Given the description of an element on the screen output the (x, y) to click on. 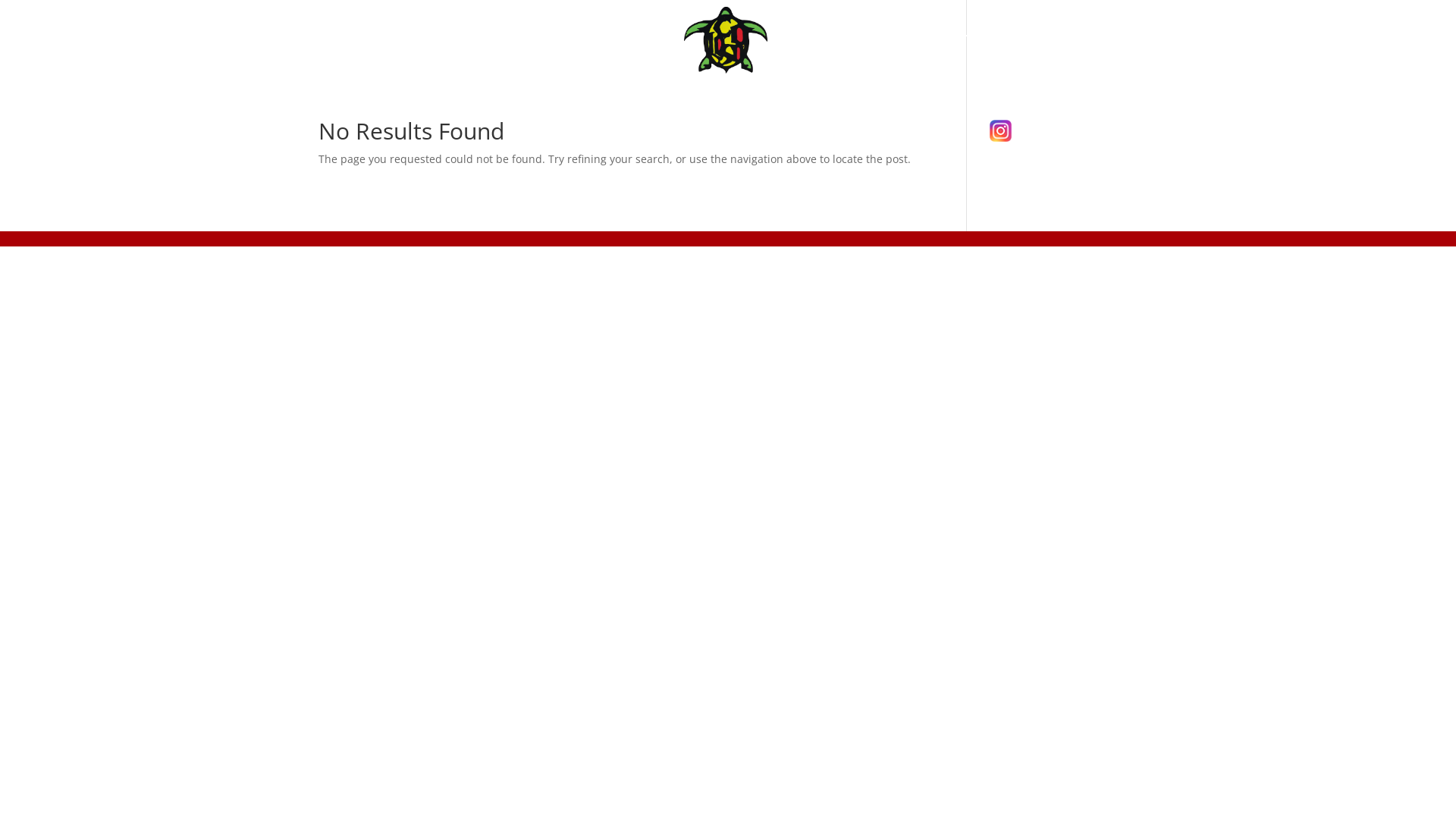
PHOTO & VIDEO Element type: text (839, 55)
CONTACT Element type: text (941, 55)
MUSIC Element type: text (646, 55)
UPCOMING SHOWS Element type: text (544, 55)
